Given the description of an element on the screen output the (x, y) to click on. 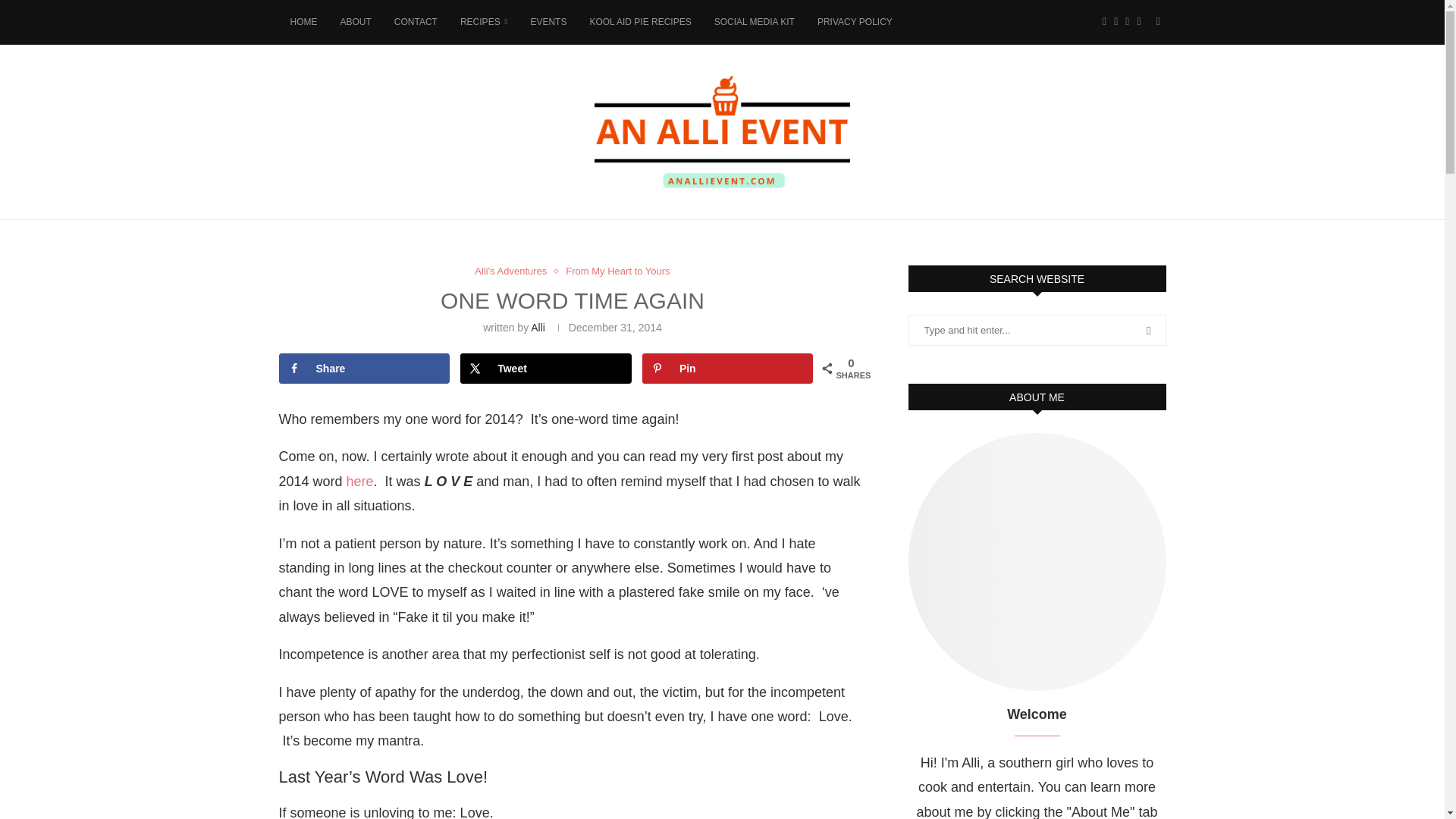
KOOL AID PIE RECIPES (639, 22)
Save to Pinterest (727, 368)
Alli (537, 327)
CONTACT (415, 22)
Share (364, 368)
Share on X (545, 368)
Share on Facebook (364, 368)
ABOUT (355, 22)
EVENTS (548, 22)
One Word (358, 481)
Pin (727, 368)
Tweet (545, 368)
From My Heart to Yours (617, 271)
HOME (304, 22)
PRIVACY POLICY (855, 22)
